Given the description of an element on the screen output the (x, y) to click on. 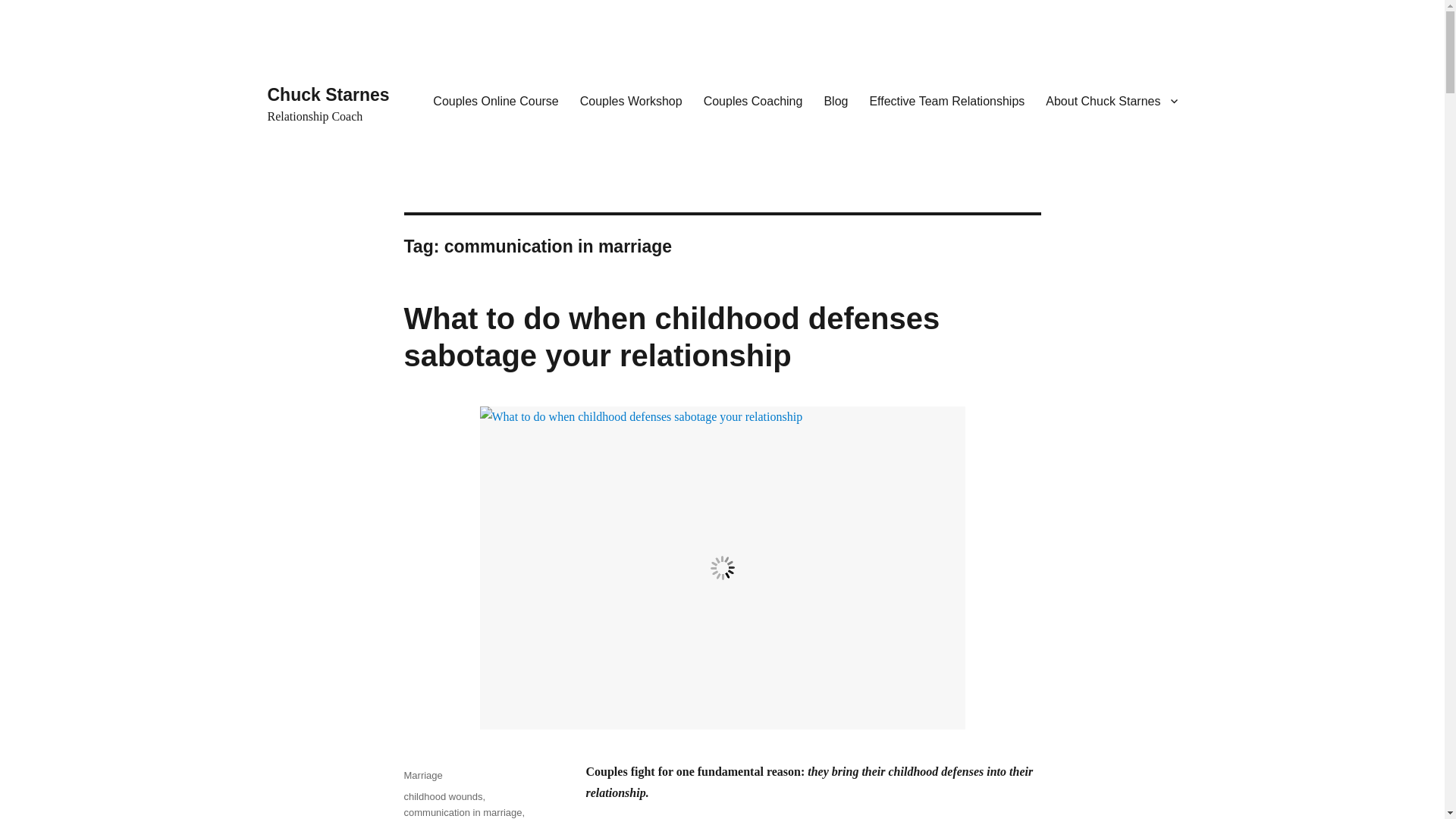
childhood wounds (442, 796)
Couples Online Course (495, 101)
Chuck Starnes (327, 94)
communication in marriage (462, 812)
Blog (835, 101)
Effective Team Relationships (947, 101)
Couples Workshop (631, 101)
About Chuck Starnes (1111, 101)
Marriage (422, 775)
